Given the description of an element on the screen output the (x, y) to click on. 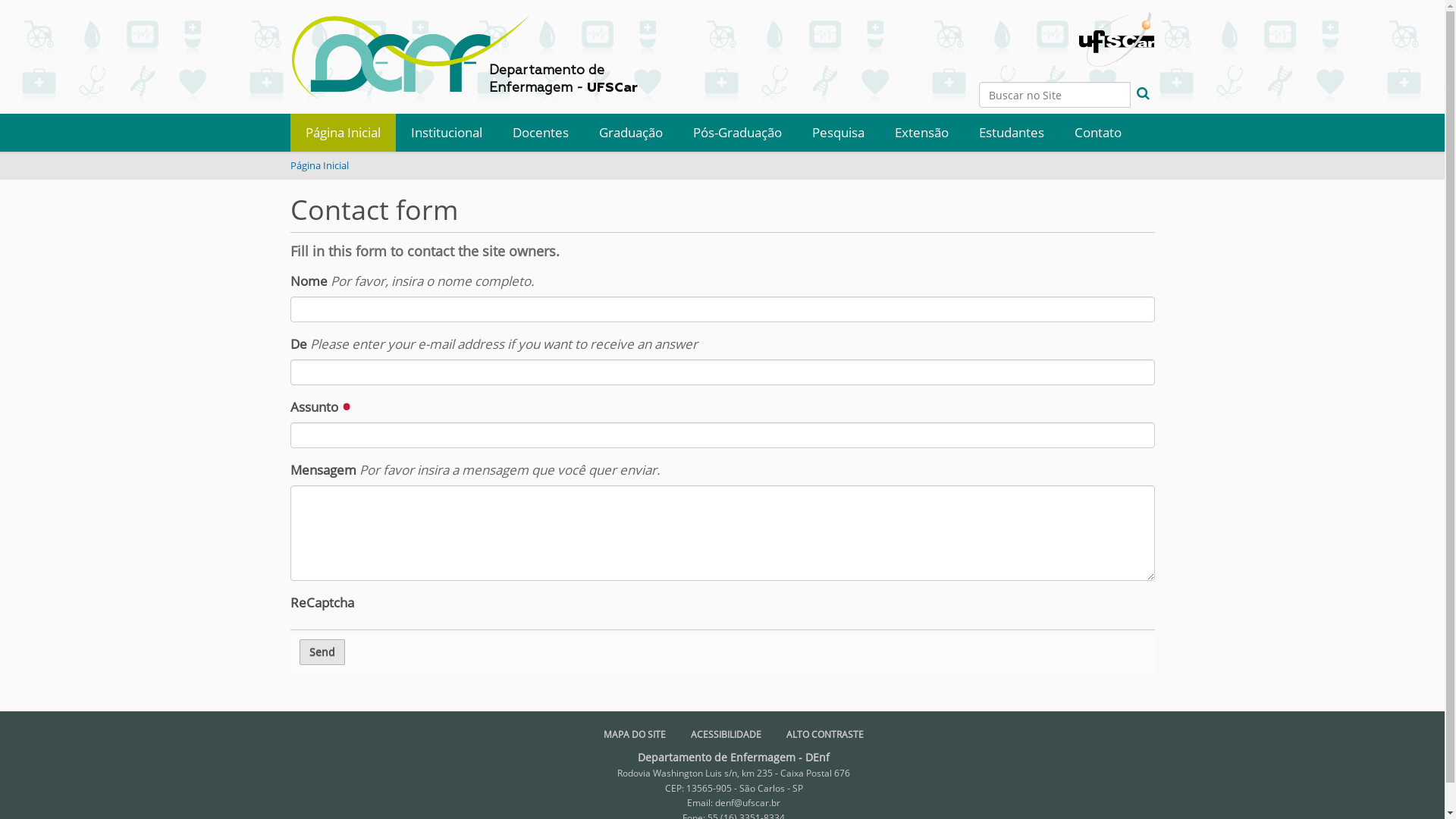
Contato Element type: text (1096, 132)
Portal UFSCar Element type: hover (1116, 31)
Docentes Element type: text (540, 132)
ACESSIBILIDADE Element type: text (725, 734)
Institucional Element type: text (446, 132)
Pesquisa Element type: text (837, 132)
Departamento de Enfermagem - UFSCar Element type: text (475, 48)
ALTO CONTRASTE Element type: text (824, 734)
Departamento de Enfermagem Element type: hover (414, 56)
Send Element type: text (321, 652)
Estudantes Element type: text (1010, 132)
Buscar no Site Element type: hover (1053, 94)
MAPA DO SITE Element type: text (634, 734)
